Given the description of an element on the screen output the (x, y) to click on. 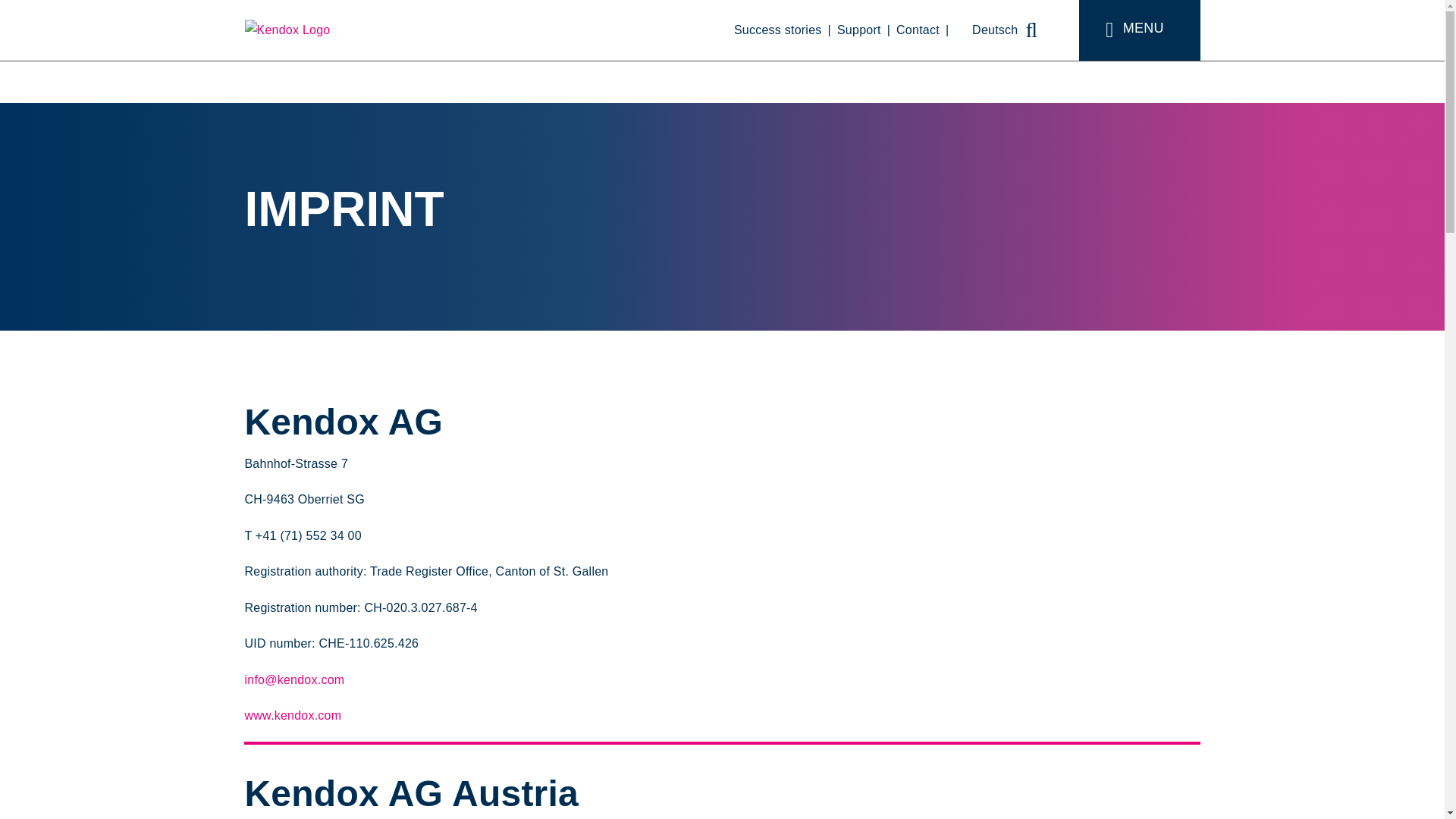
Contact (925, 29)
Deutsch (986, 29)
Deutsch (986, 29)
Success stories (785, 29)
Support (866, 29)
